Given the description of an element on the screen output the (x, y) to click on. 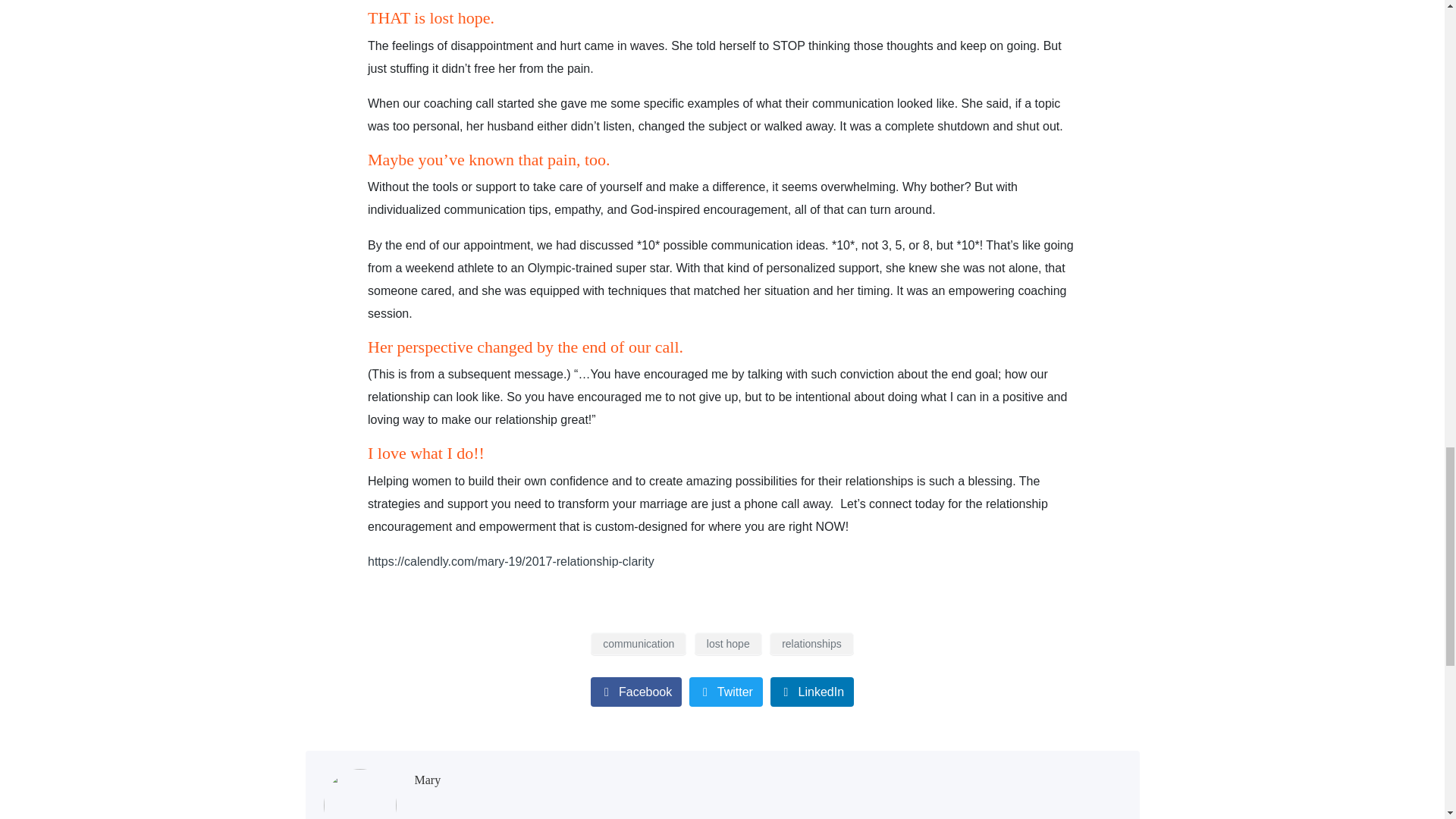
Facebook (636, 691)
communication (638, 643)
Mary (427, 780)
relationships (811, 643)
LinkedIn (812, 691)
lost hope (727, 643)
Twitter (725, 691)
